Given the description of an element on the screen output the (x, y) to click on. 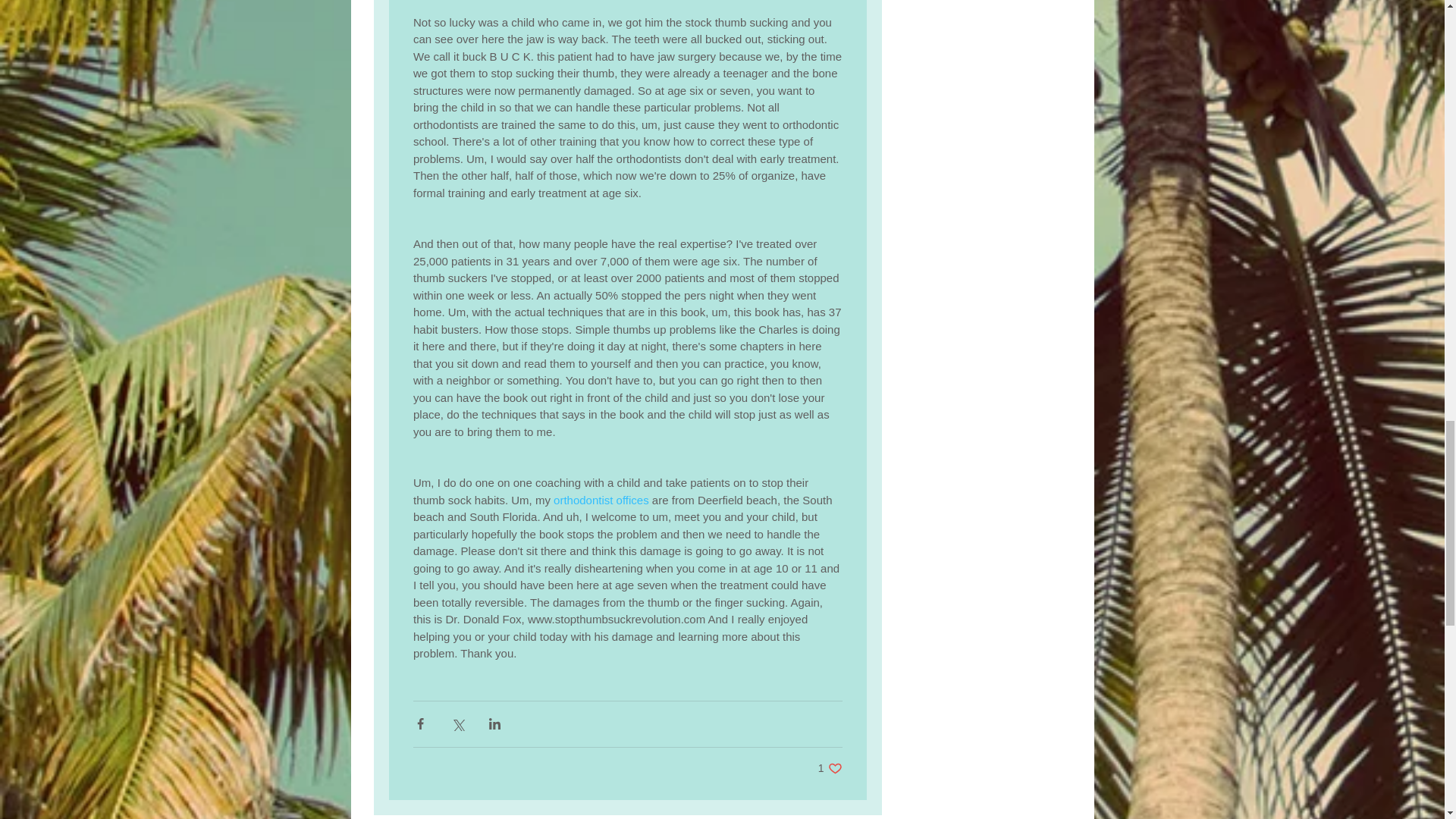
orthodontist offices (601, 499)
